Given the description of an element on the screen output the (x, y) to click on. 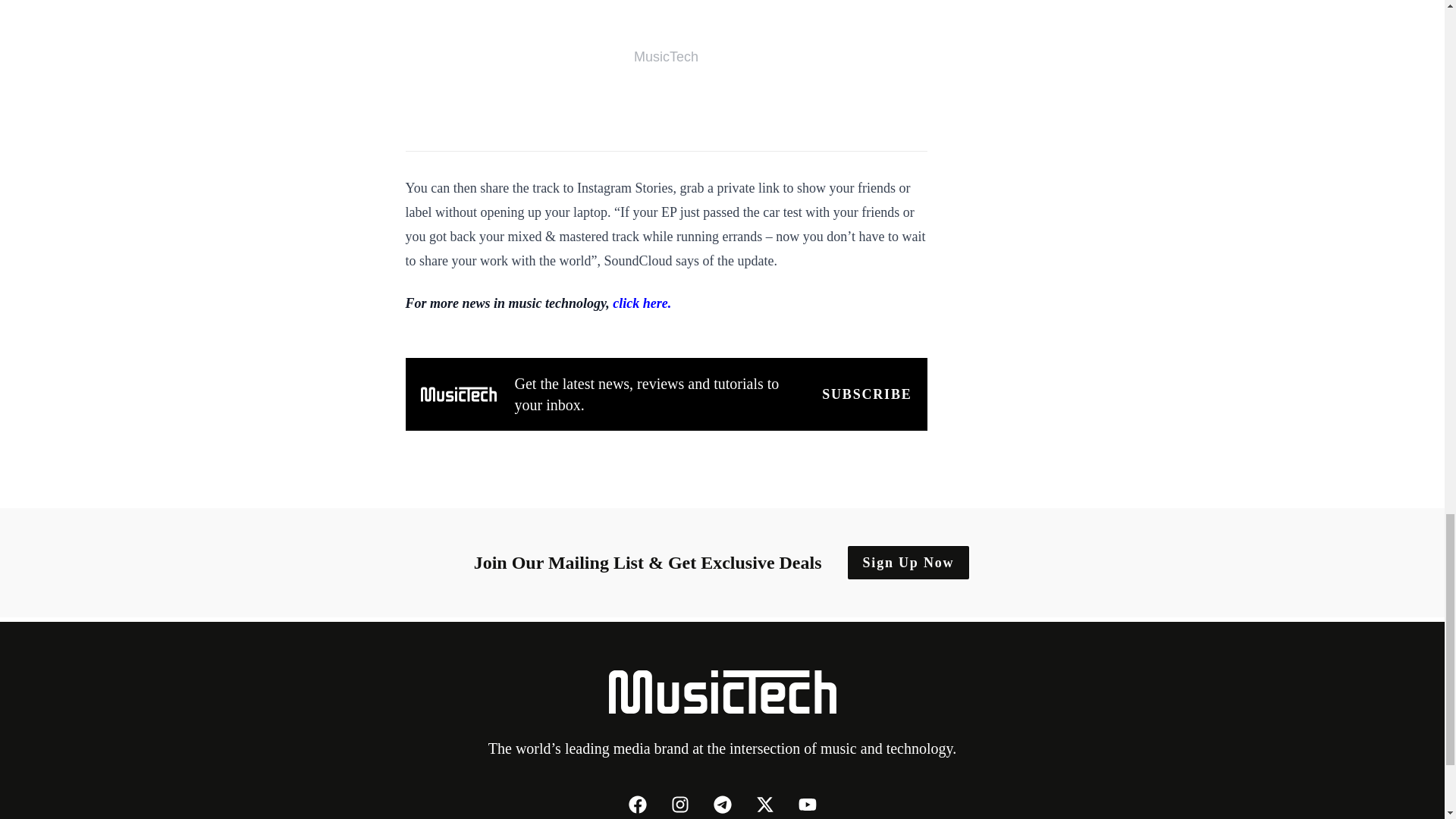
Join our mailing list (866, 394)
Sign Up Now (908, 562)
click here. (641, 303)
SUBSCRIBE (866, 394)
